Given the description of an element on the screen output the (x, y) to click on. 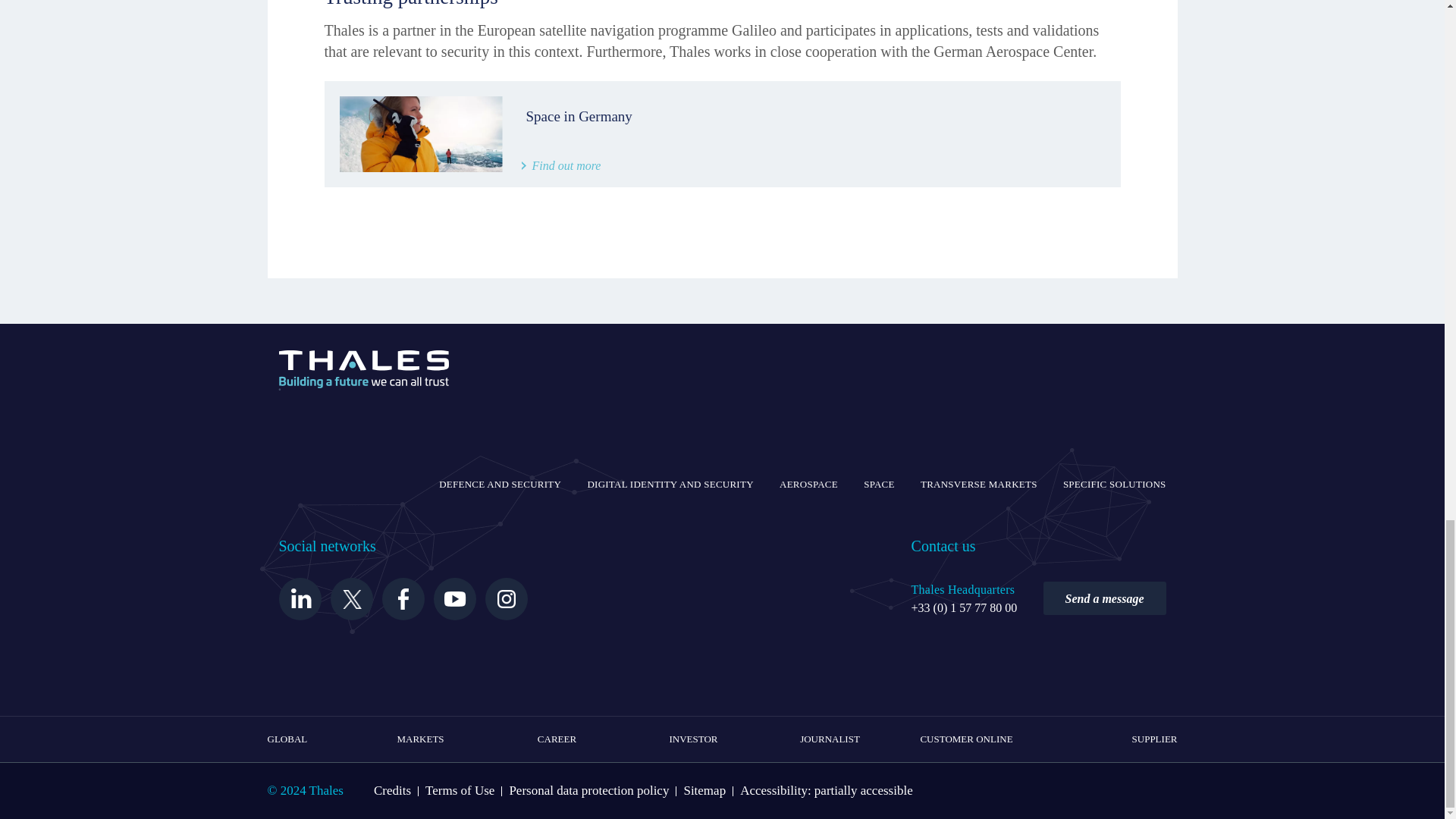
SPACE (879, 484)
Twitter (351, 598)
AEROSPACE (808, 484)
TRANSVERSE MARKETS (978, 484)
Send a message (1104, 598)
Facebook (403, 598)
Accessibility level of this web site (825, 789)
Youtube (454, 598)
GLOBAL (286, 738)
Find out more (561, 164)
DEFENCE AND SECURITY (499, 484)
Instagram (505, 598)
SPECIFIC SOLUTIONS (1114, 484)
JOURNALIST (829, 738)
Linkedin (300, 598)
